Given the description of an element on the screen output the (x, y) to click on. 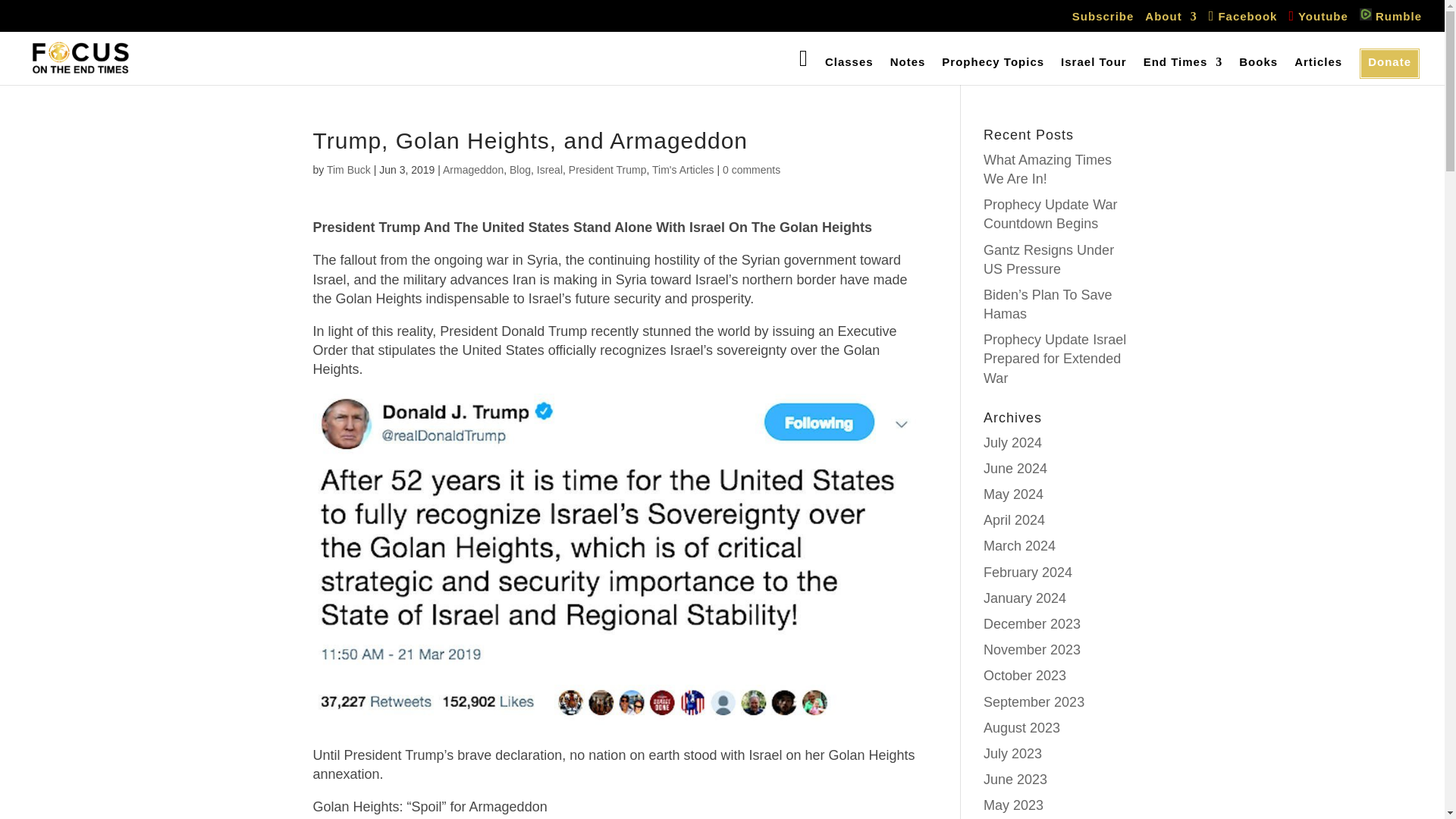
Posts by Tim Buck (348, 169)
Donate (1389, 68)
Prophecy Topics (992, 68)
Books (1258, 68)
Youtube (1318, 20)
End Times (1182, 68)
Notes (907, 68)
Subscribe (1102, 20)
Israel Tour (1093, 68)
Facebook (1243, 20)
Articles (1318, 68)
About (1170, 20)
Classes (849, 68)
Rumble (1390, 19)
